Given the description of an element on the screen output the (x, y) to click on. 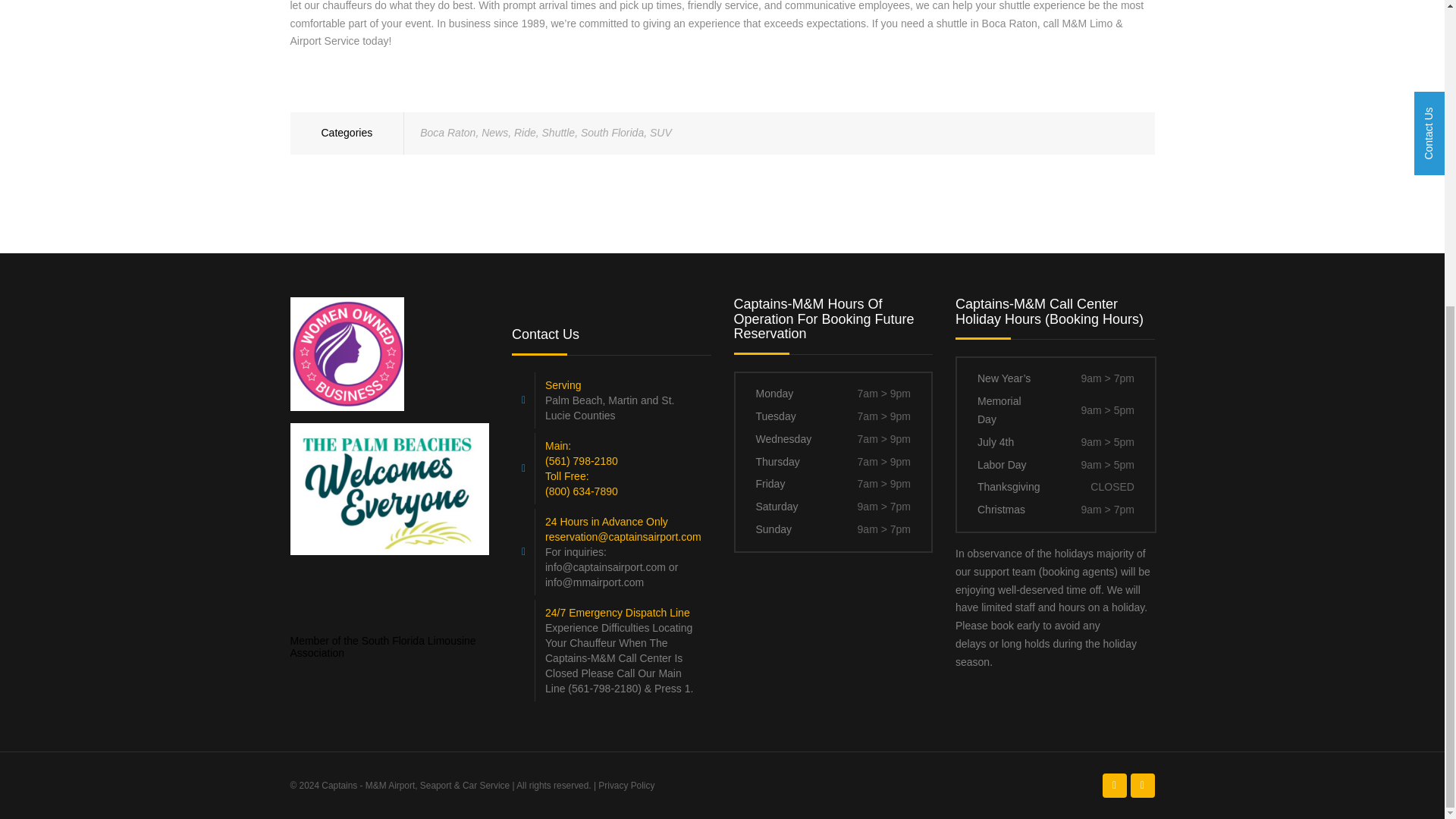
Shuttle (558, 132)
South Florida (611, 132)
SUV (660, 132)
Privacy Policy (625, 785)
Ride (524, 132)
News (494, 132)
Boca Raton (448, 132)
